Given the description of an element on the screen output the (x, y) to click on. 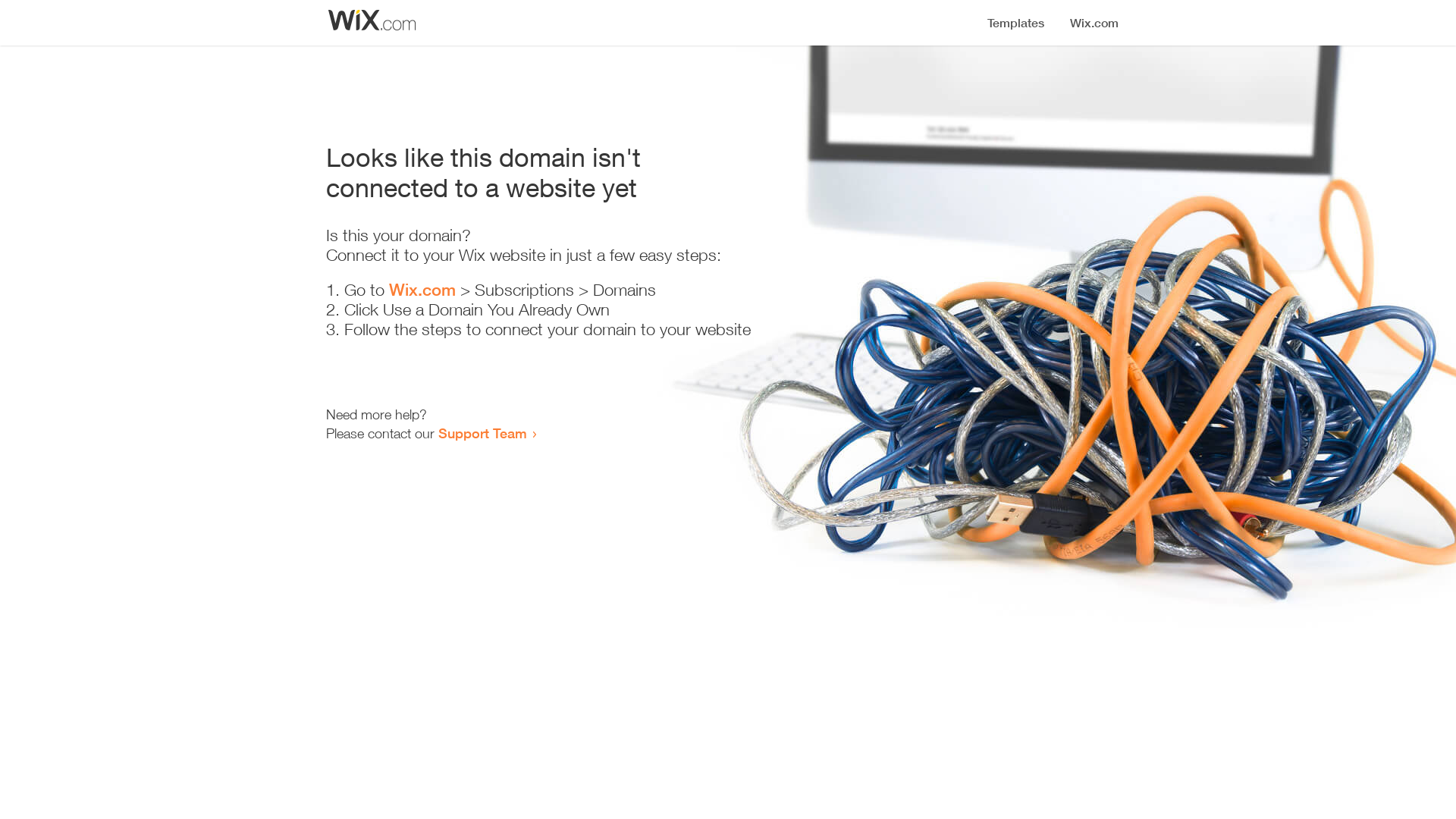
Wix.com Element type: text (422, 289)
Support Team Element type: text (482, 432)
